Given the description of an element on the screen output the (x, y) to click on. 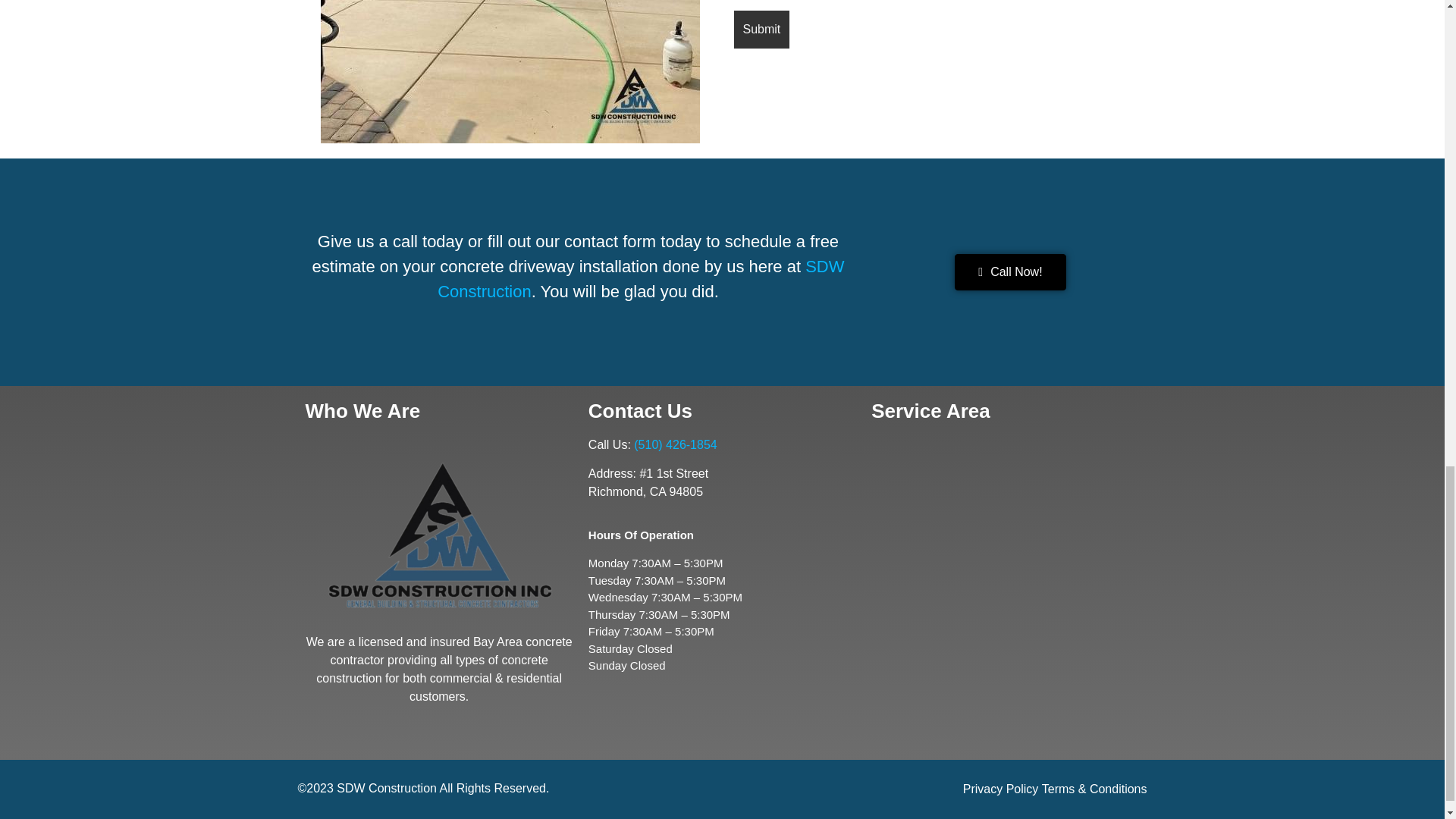
Call Now! (1010, 271)
Privacy Policy (1000, 789)
SDW Construction (641, 279)
Submit (761, 29)
Submit (761, 29)
